Given the description of an element on the screen output the (x, y) to click on. 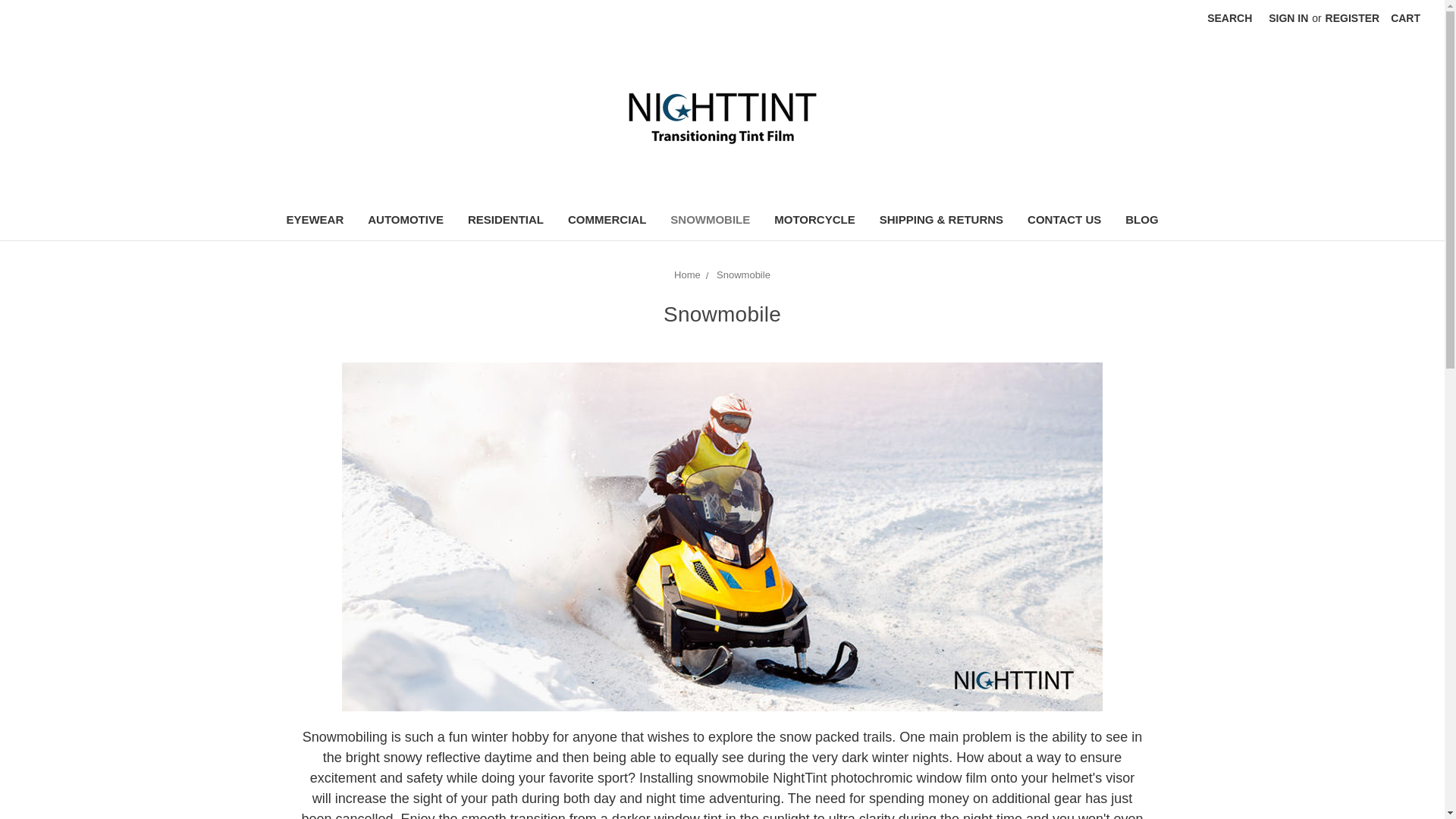
EYEWEAR (314, 221)
Home (687, 274)
SNOWMOBILE (709, 221)
BLOG (1141, 221)
COMMERCIAL (607, 221)
SIGN IN (1288, 18)
MOTORCYCLE (813, 221)
REGISTER (1353, 18)
RESIDENTIAL (505, 221)
